Given the description of an element on the screen output the (x, y) to click on. 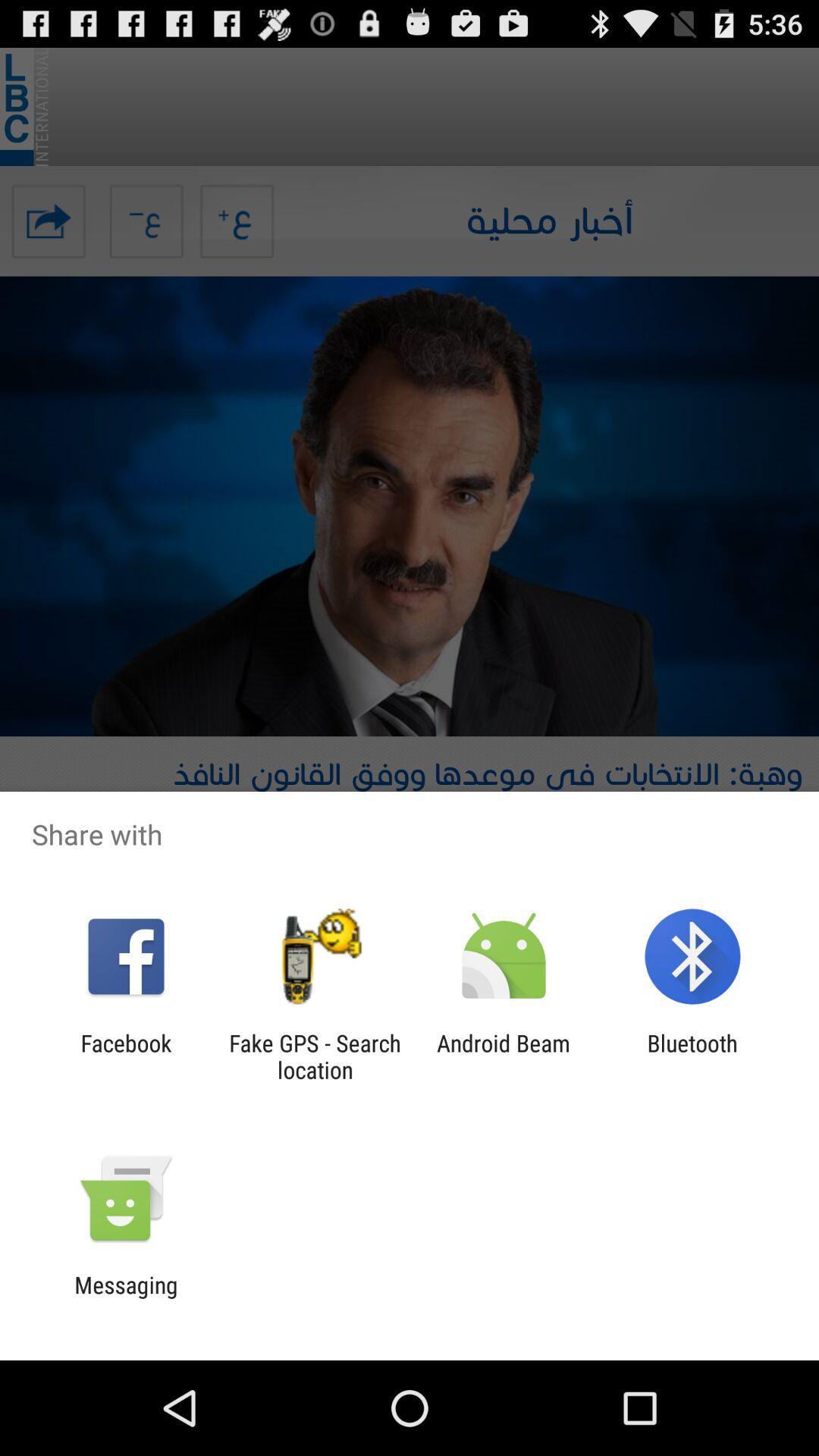
choose the item next to android beam item (692, 1056)
